Given the description of an element on the screen output the (x, y) to click on. 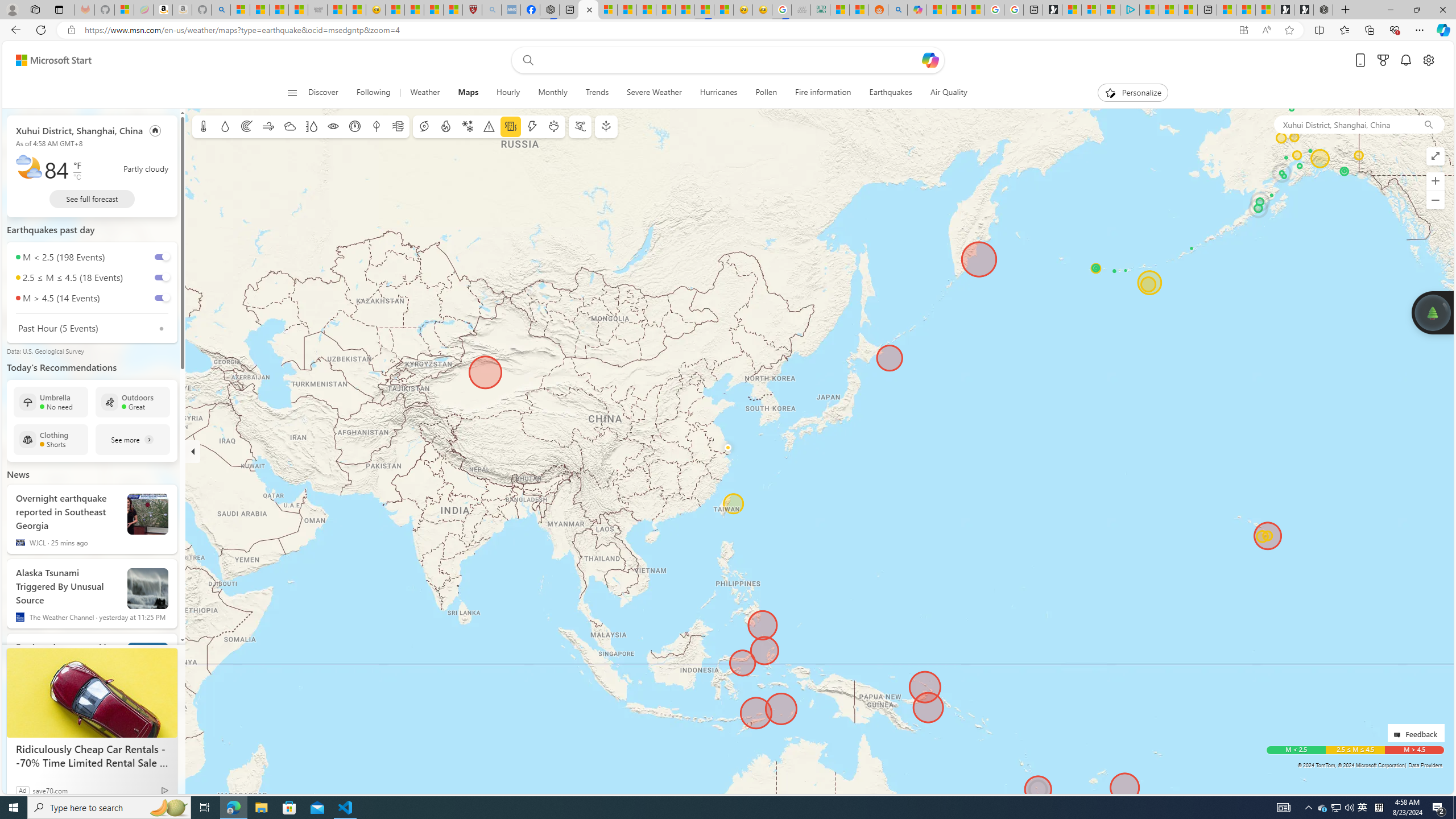
Sea level pressure (355, 126)
Hourly (508, 92)
Earthquake (510, 126)
Microsoft Start (1168, 9)
DITOGAMES AG Imprint (820, 9)
Robert H. Shmerling, MD - Harvard Health (471, 9)
Combat Siege (316, 9)
Outdoors Great (133, 401)
Earthquakes (890, 92)
Microsoft Start (53, 60)
Earthquakes (890, 92)
Recipes - MSN (394, 9)
Collections (1369, 29)
